Given the description of an element on the screen output the (x, y) to click on. 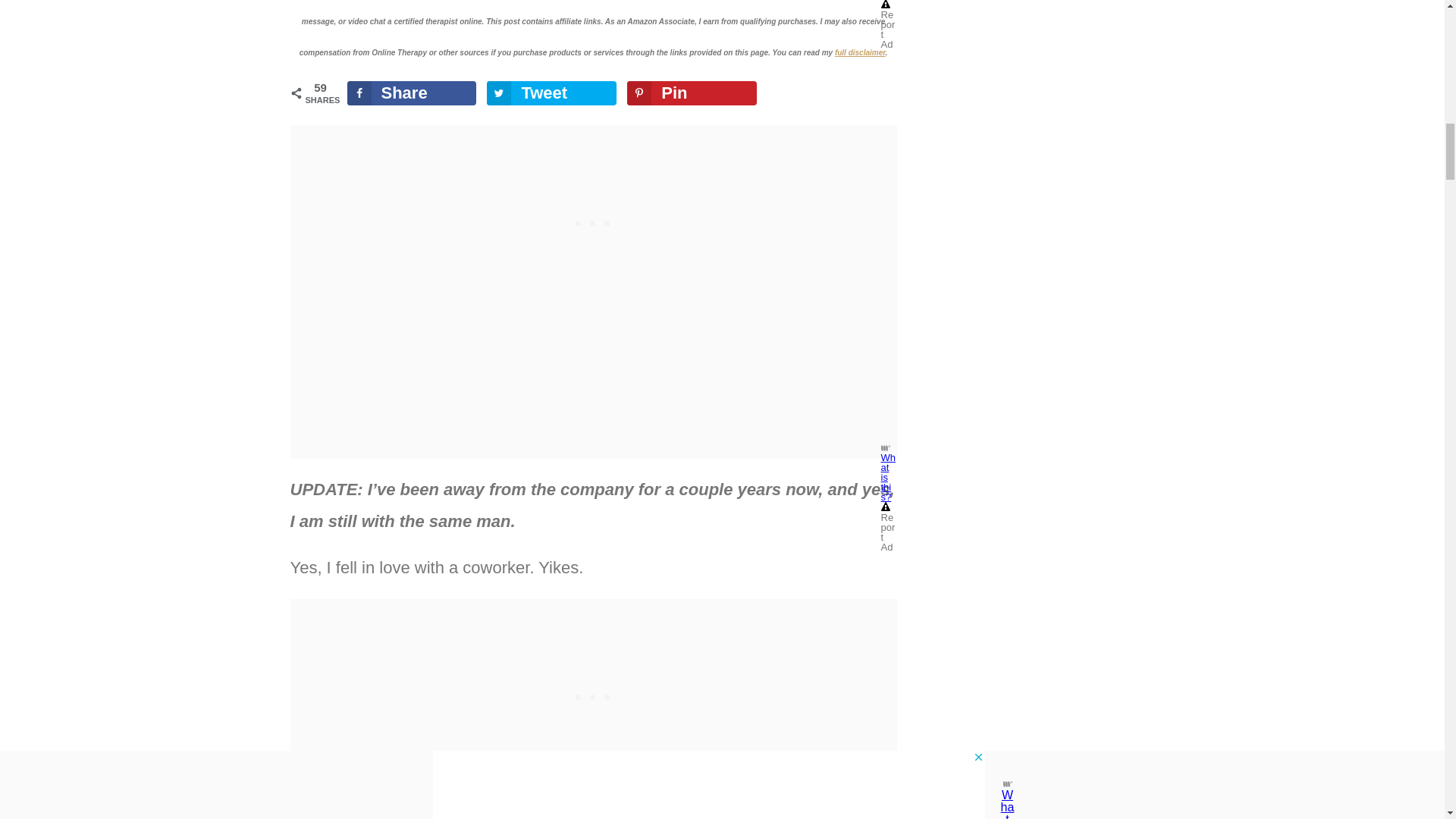
full disclaimer (859, 52)
Share on Facebook (411, 93)
Pin (691, 93)
3rd party ad content (592, 219)
Share on Twitter (550, 93)
Share (411, 93)
Tweet (550, 93)
3rd party ad content (592, 693)
Save to Pinterest (691, 93)
